Given the description of an element on the screen output the (x, y) to click on. 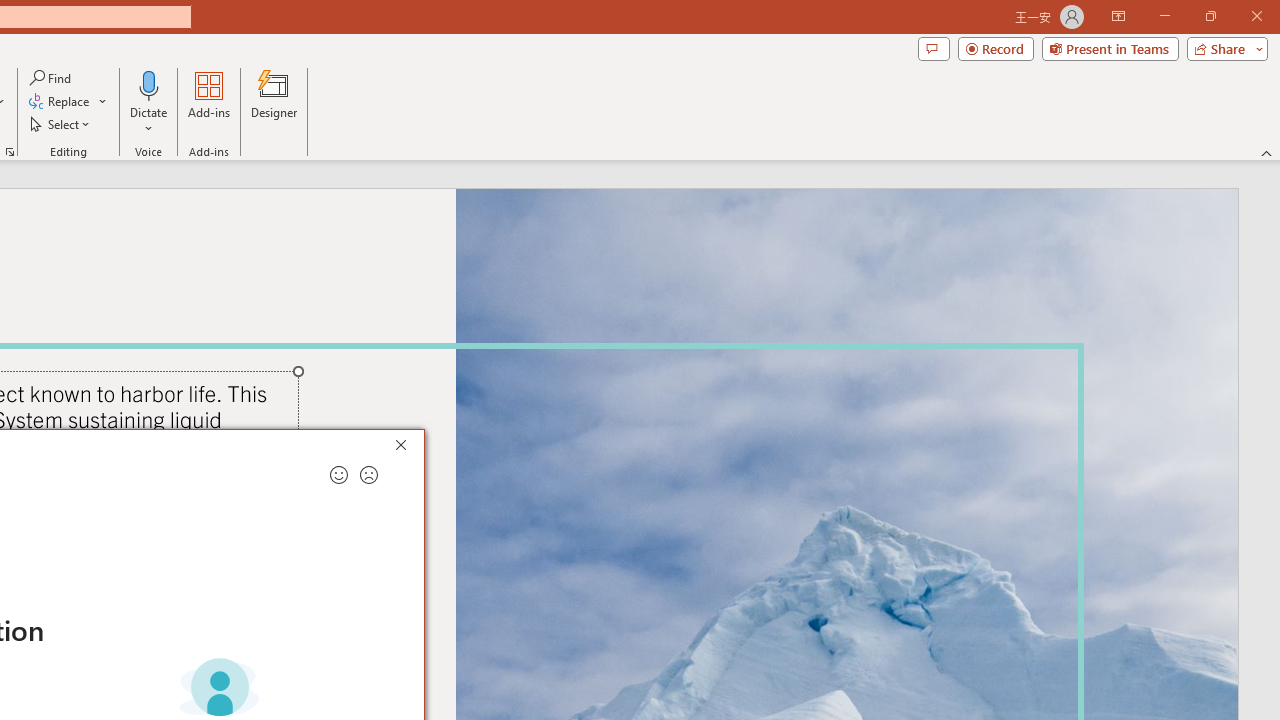
Send a frown for feedback (369, 475)
Find... (51, 78)
